Given the description of an element on the screen output the (x, y) to click on. 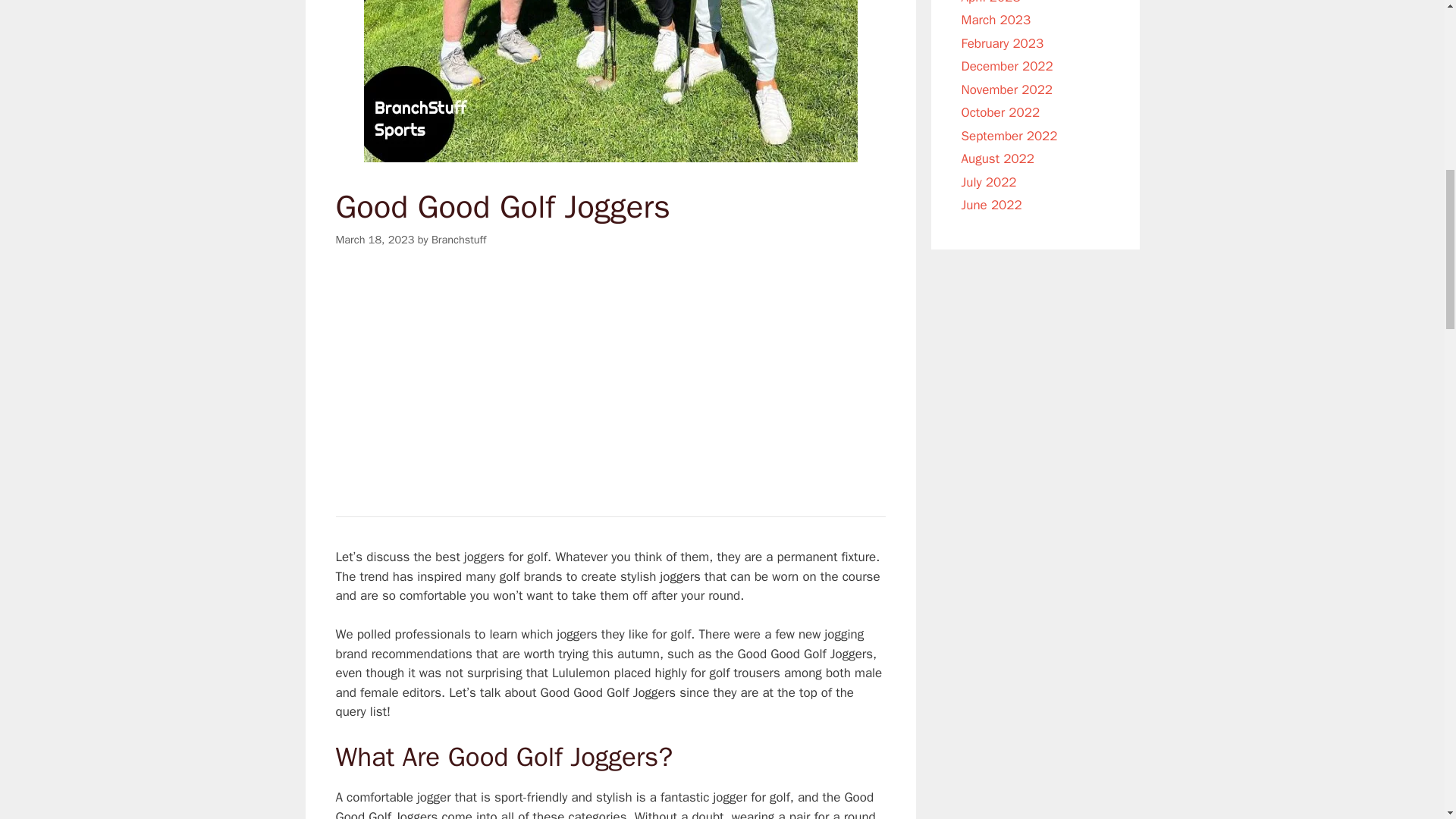
Branchstuff (458, 239)
View all posts by Branchstuff (458, 239)
